Given the description of an element on the screen output the (x, y) to click on. 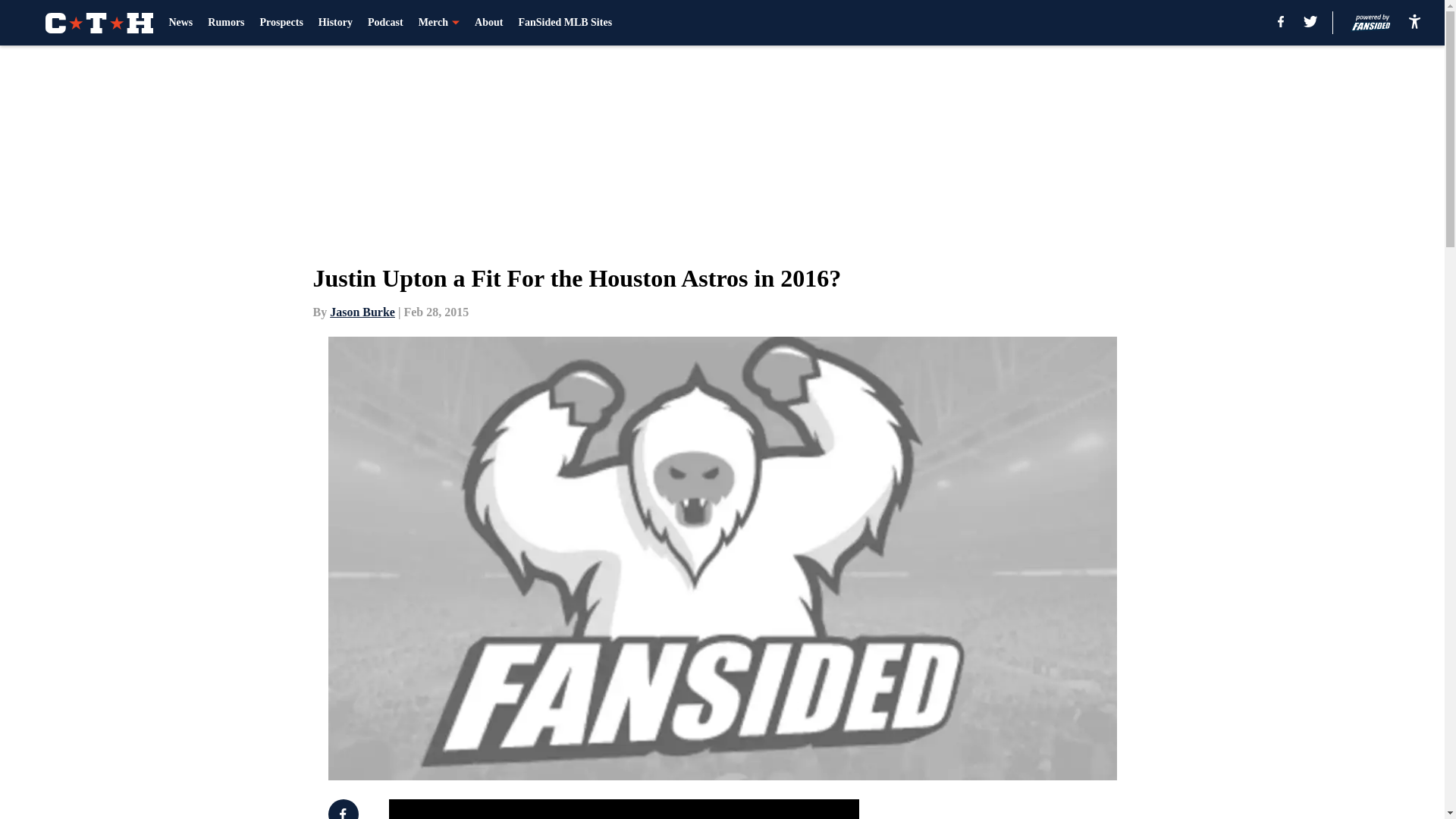
Jason Burke (362, 311)
Rumors (226, 22)
Prospects (281, 22)
History (335, 22)
FanSided MLB Sites (564, 22)
Podcast (385, 22)
About (488, 22)
News (180, 22)
